Given the description of an element on the screen output the (x, y) to click on. 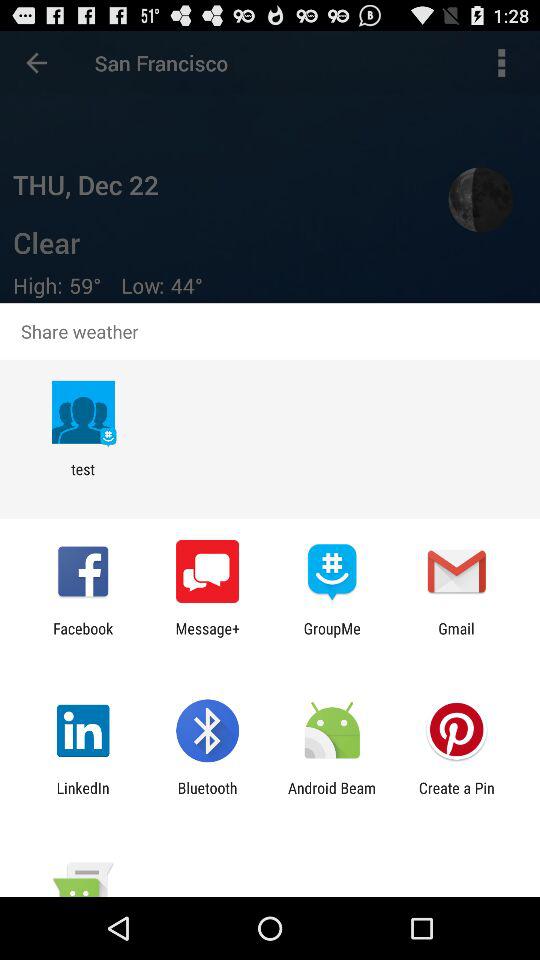
tap app next to the bluetooth icon (82, 796)
